Given the description of an element on the screen output the (x, y) to click on. 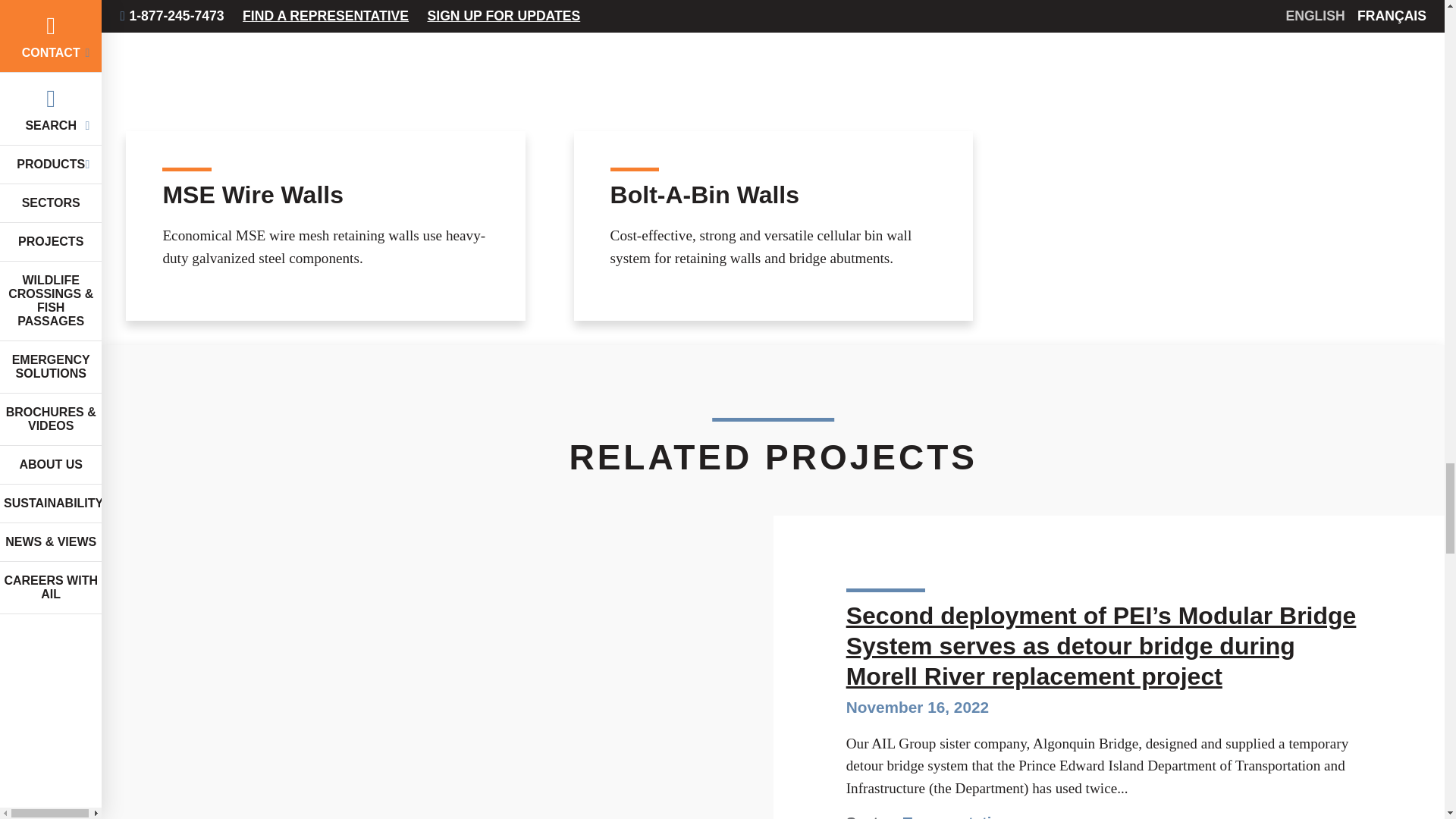
Find out More (324, 160)
Find out More (772, 160)
